Given the description of an element on the screen output the (x, y) to click on. 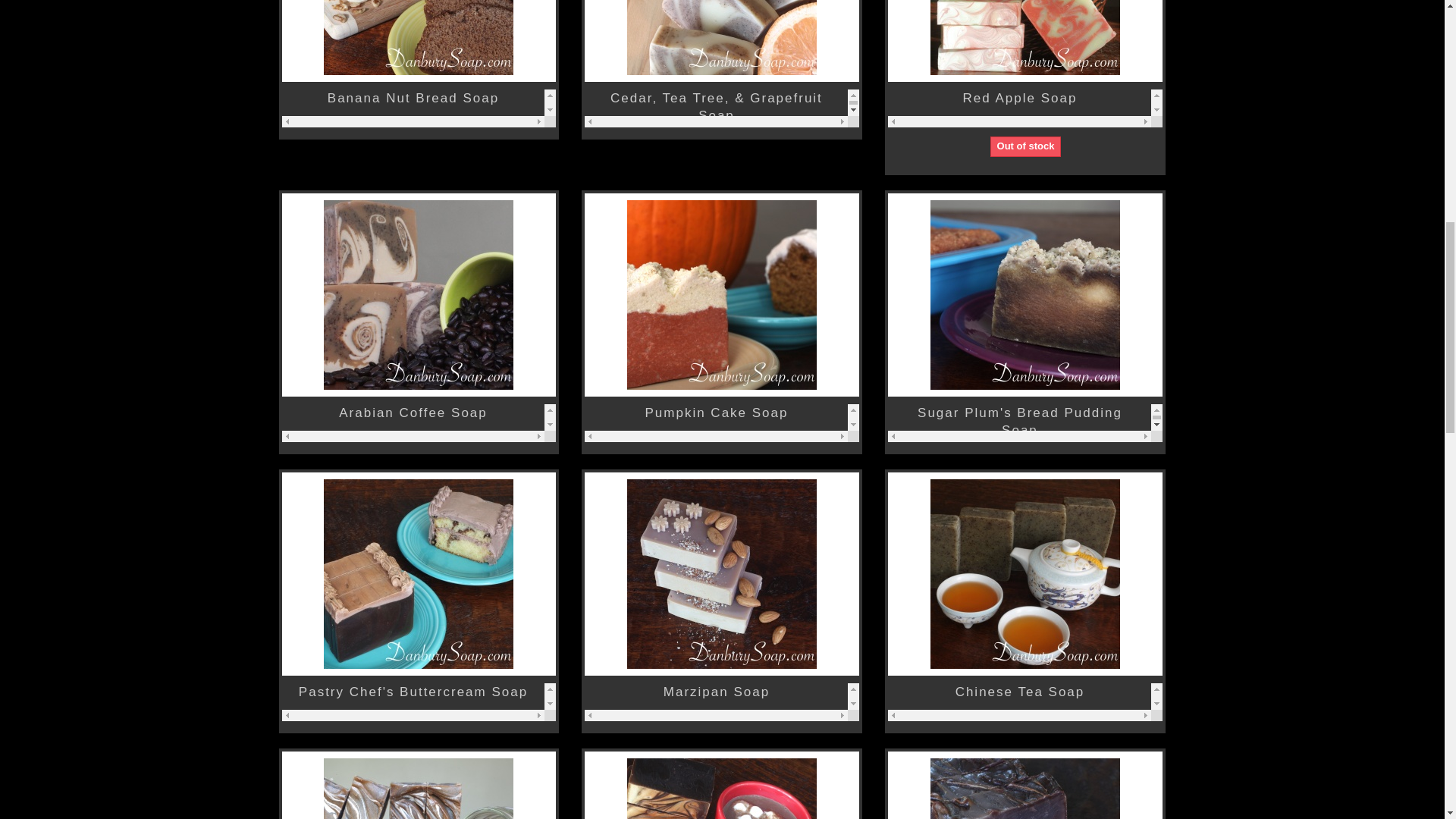
Arabian Coffee Soap (412, 412)
Red Apple Soap (1019, 98)
Banana Nut Bread Soap (412, 98)
